Given the description of an element on the screen output the (x, y) to click on. 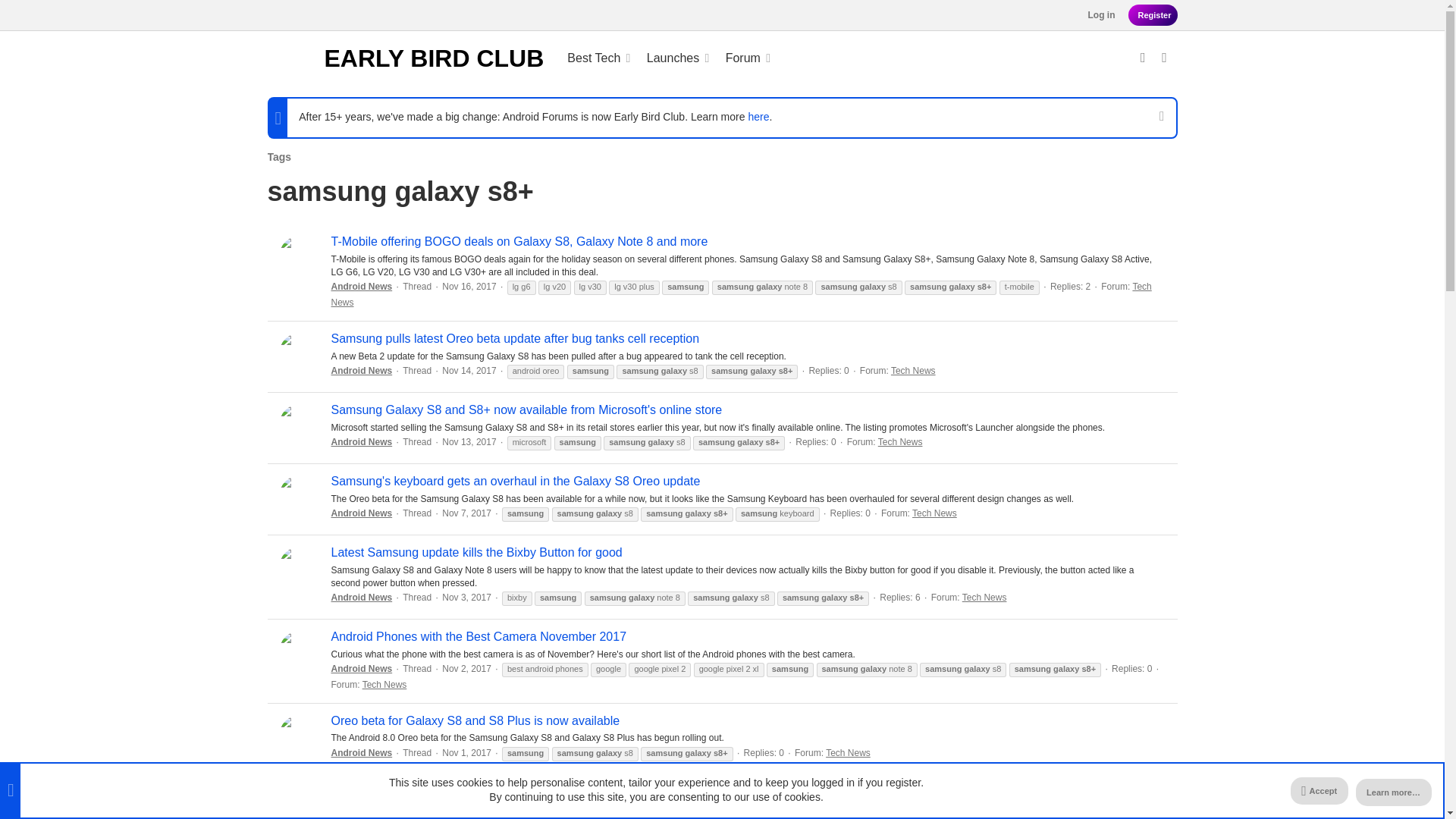
EARLY BIRD CLUB (664, 58)
Nov 7, 2017 at 2:22 PM (404, 57)
Register (467, 512)
Nov 16, 2017 at 3:13 PM (1152, 14)
Launches (469, 286)
Nov 3, 2017 at 6:03 PM (667, 58)
Best Tech (467, 597)
Nov 2, 2017 at 3:52 PM (587, 58)
Nov 13, 2017 at 3:03 PM (467, 668)
Forum (469, 441)
Nov 1, 2017 at 2:33 PM (737, 58)
Nov 14, 2017 at 4:23 PM (467, 752)
Log in (664, 58)
